Given the description of an element on the screen output the (x, y) to click on. 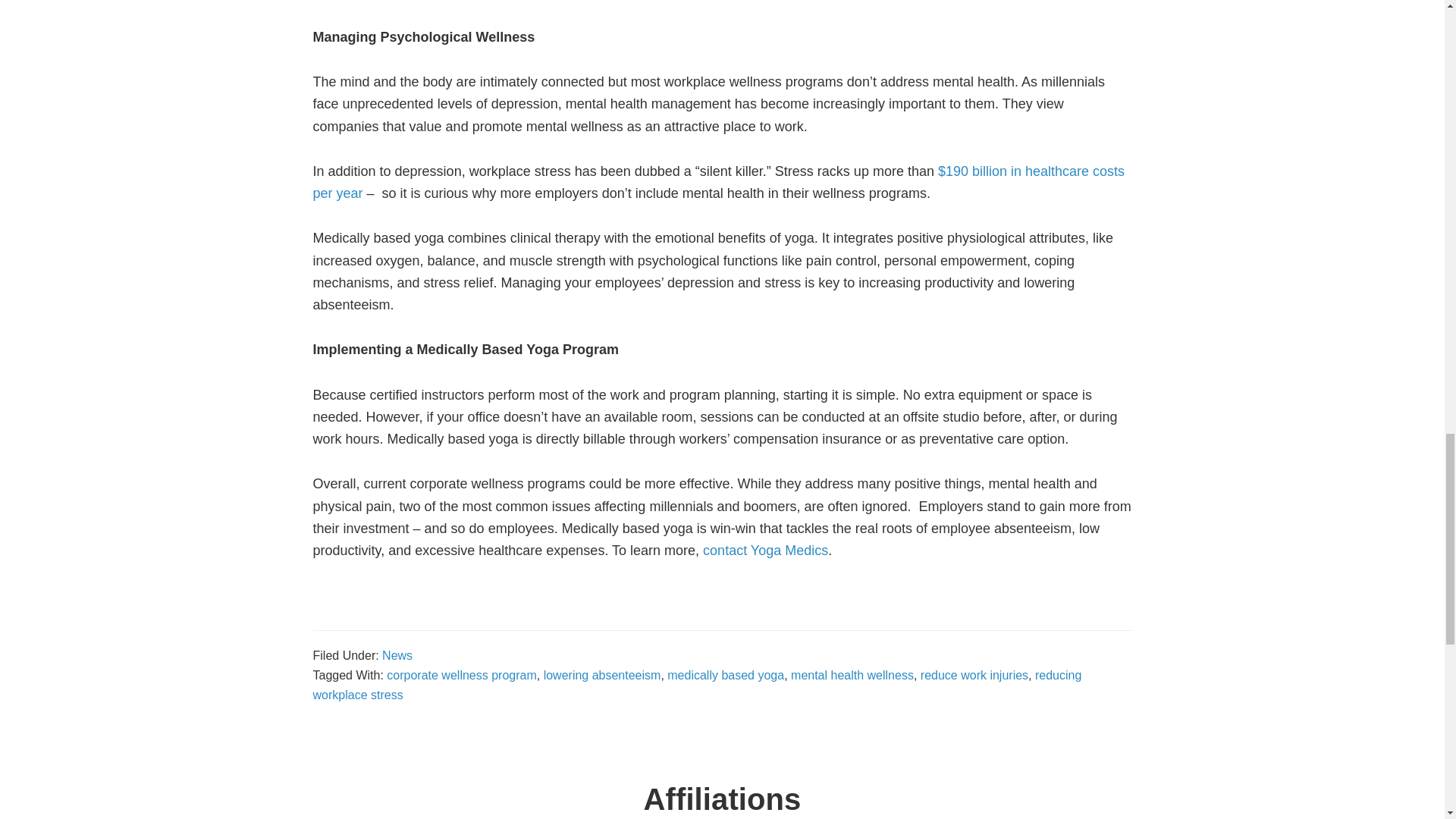
contact Yoga Medics (765, 549)
medically based yoga (725, 675)
News (396, 655)
reducing workplace stress (697, 685)
lowering absenteeism (602, 675)
mental health wellness (852, 675)
corporate wellness program (461, 675)
reduce work injuries (973, 675)
